Given the description of an element on the screen output the (x, y) to click on. 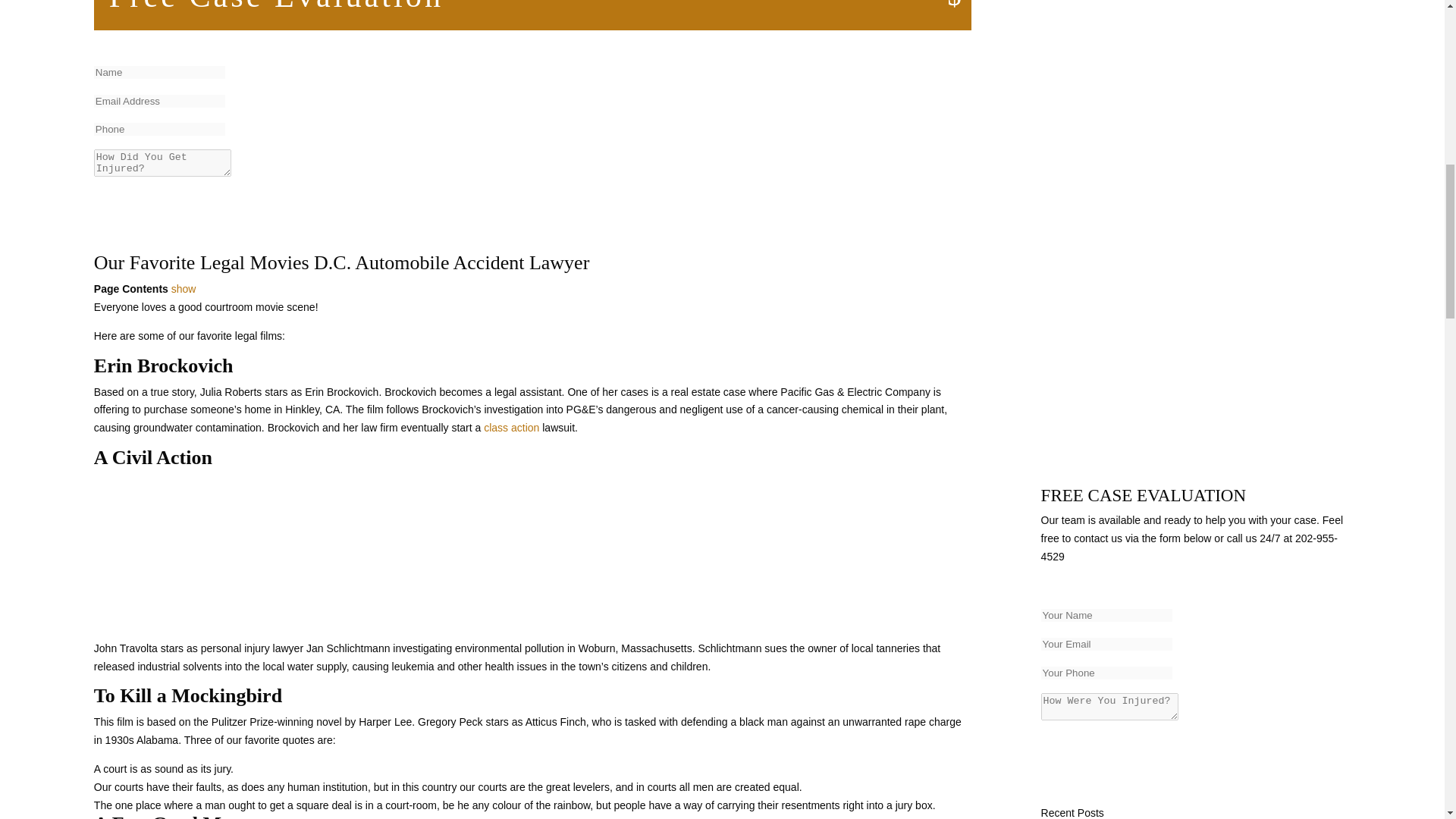
show (183, 288)
Only numbers allowed. (1106, 672)
Only numbers allowed. (159, 128)
Submit (134, 201)
Only letters allowed. (1106, 615)
